Given the description of an element on the screen output the (x, y) to click on. 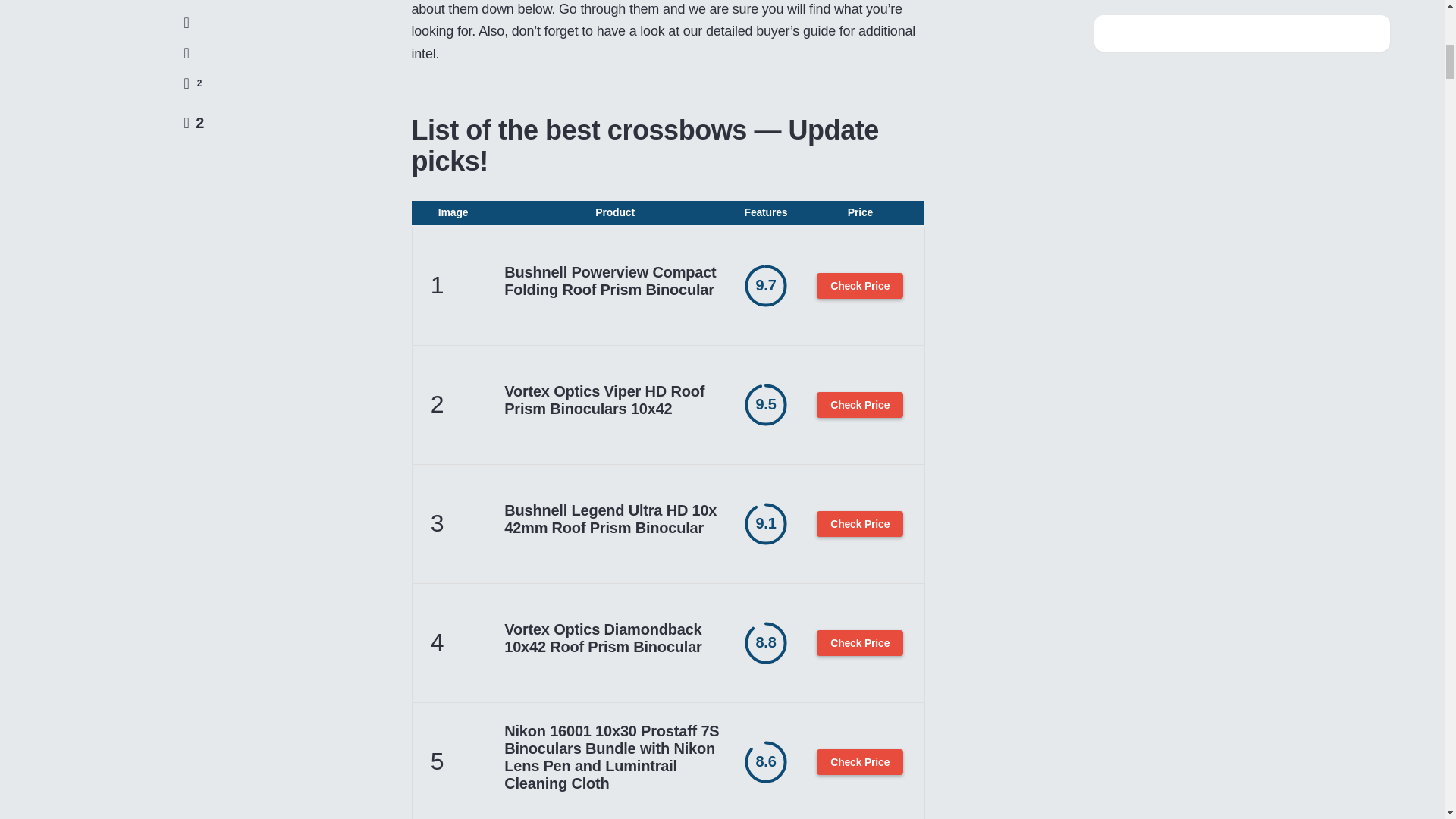
Vortex Optics Viper HD Roof Prism Binoculars 10x42 (614, 400)
Bushnell Legend Ultra HD 10x 42mm Roof Prism Binocular (614, 519)
Check Price (859, 524)
Bushnell Powerview Compact Folding Roof Prism Binocular (614, 280)
Check Price (859, 404)
Check Price (859, 285)
